Given the description of an element on the screen output the (x, y) to click on. 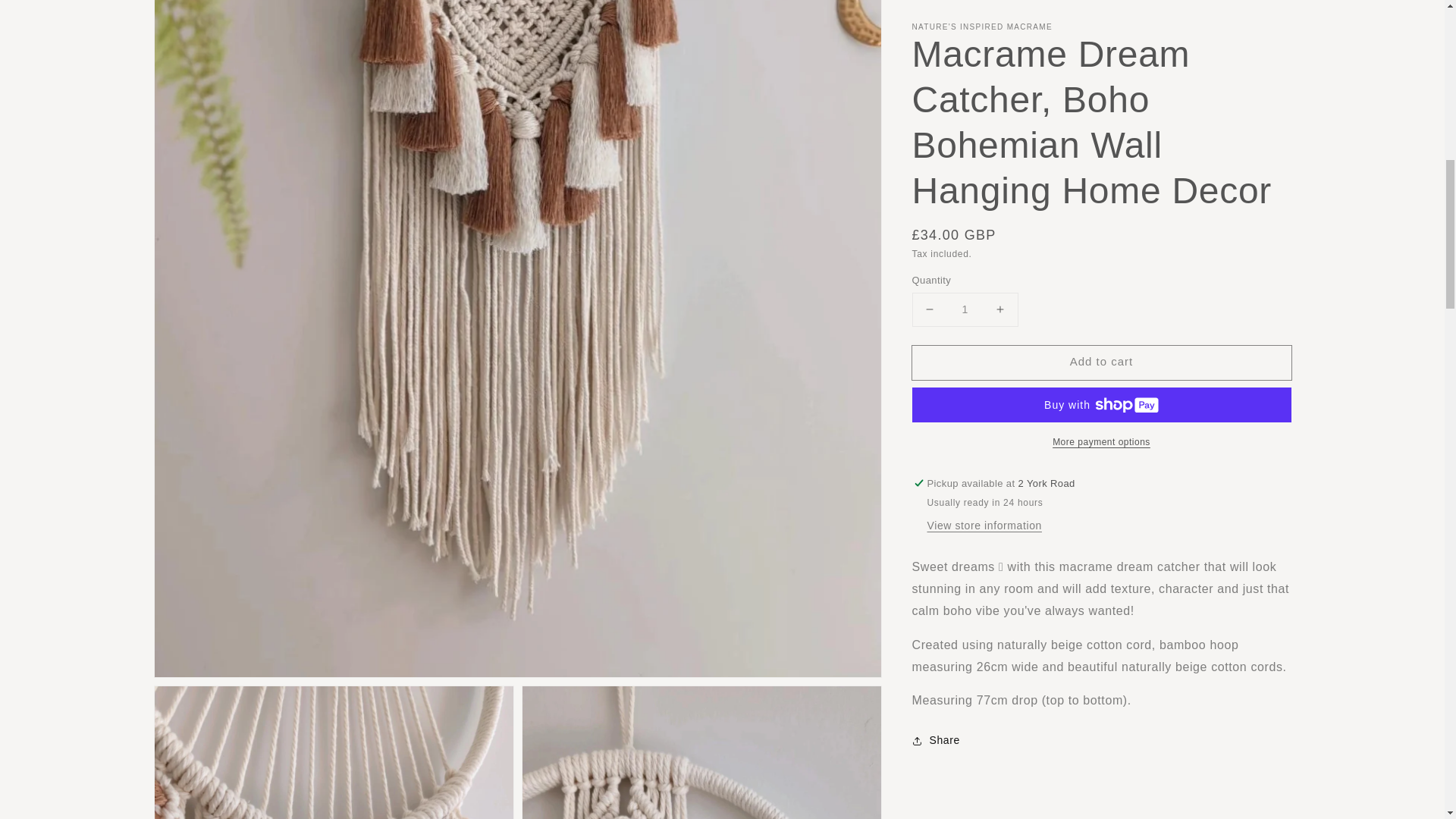
Open media 2 in gallery view (333, 752)
Open media 3 in gallery view (700, 752)
